Given the description of an element on the screen output the (x, y) to click on. 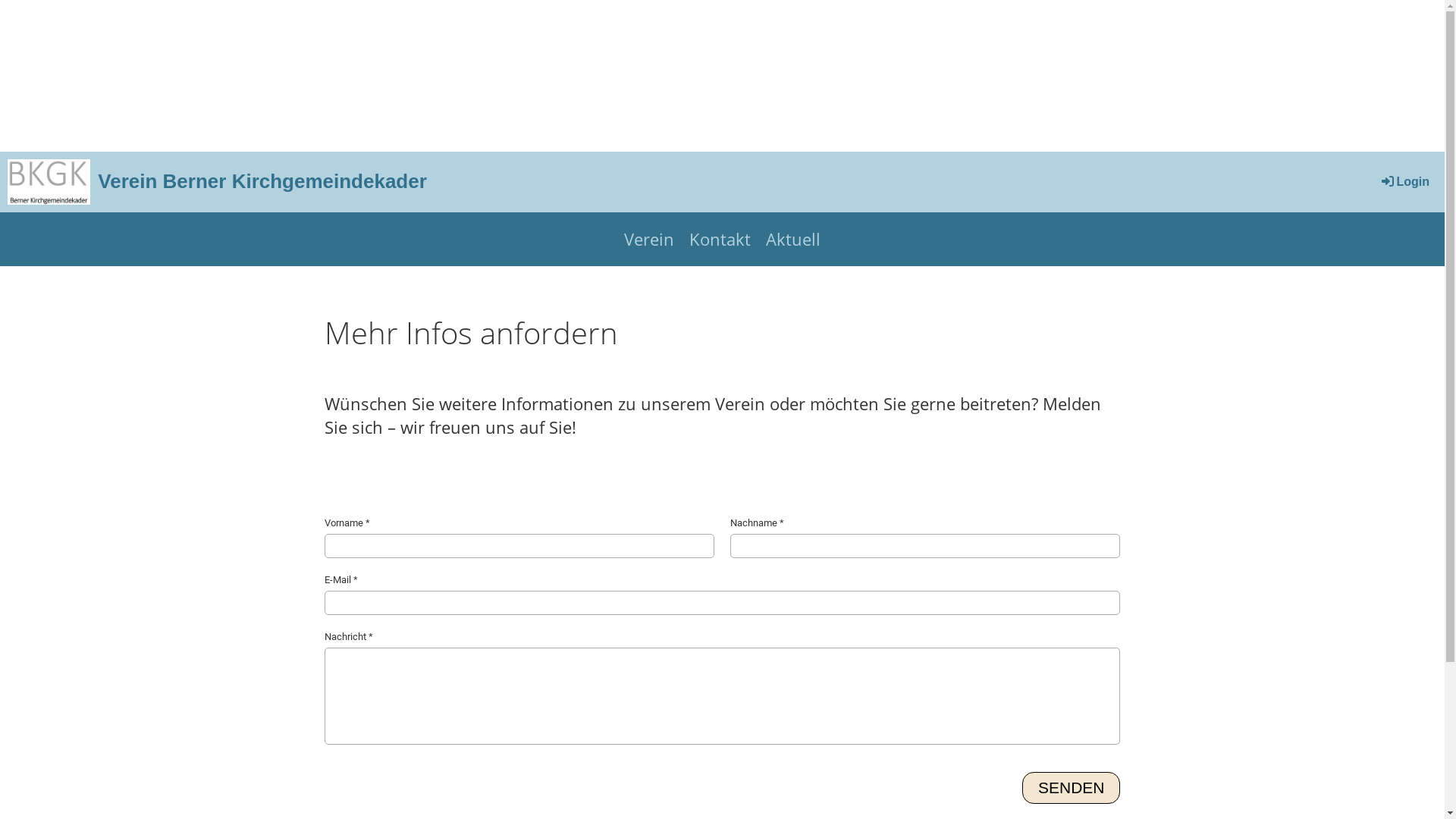
Kontakt Element type: text (719, 239)
Aktuell Element type: text (793, 239)
Verein Element type: text (648, 239)
Verein Berner Kirchgemeindekader Element type: text (261, 180)
Senden Element type: text (1071, 787)
Login Element type: text (1404, 181)
